Given the description of an element on the screen output the (x, y) to click on. 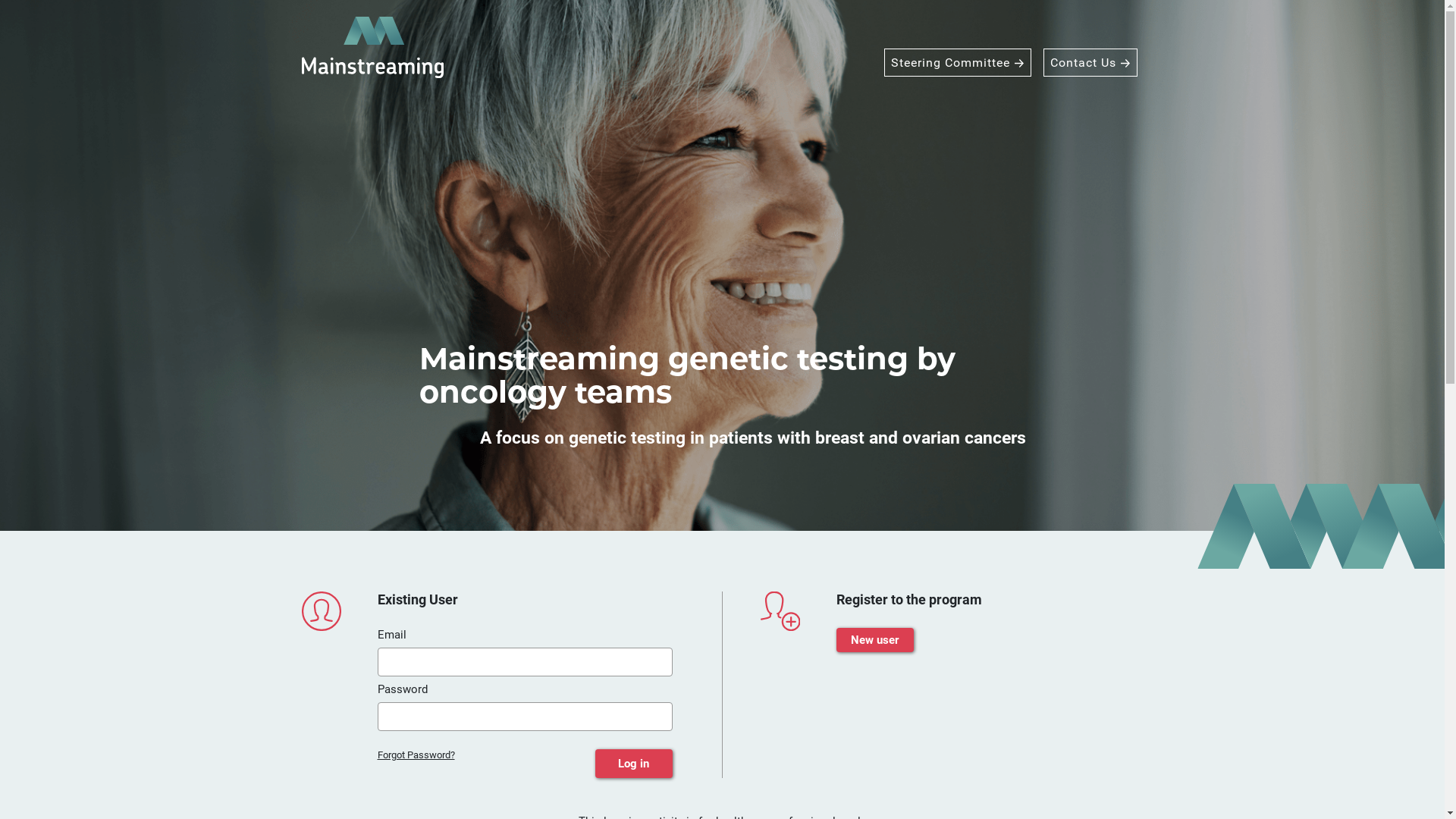
Log in Element type: text (632, 763)
New user Element type: text (874, 639)
Contact Us Element type: text (1090, 62)
Steering Committee Element type: text (957, 62)
Forgot Password? Element type: text (416, 763)
